Given the description of an element on the screen output the (x, y) to click on. 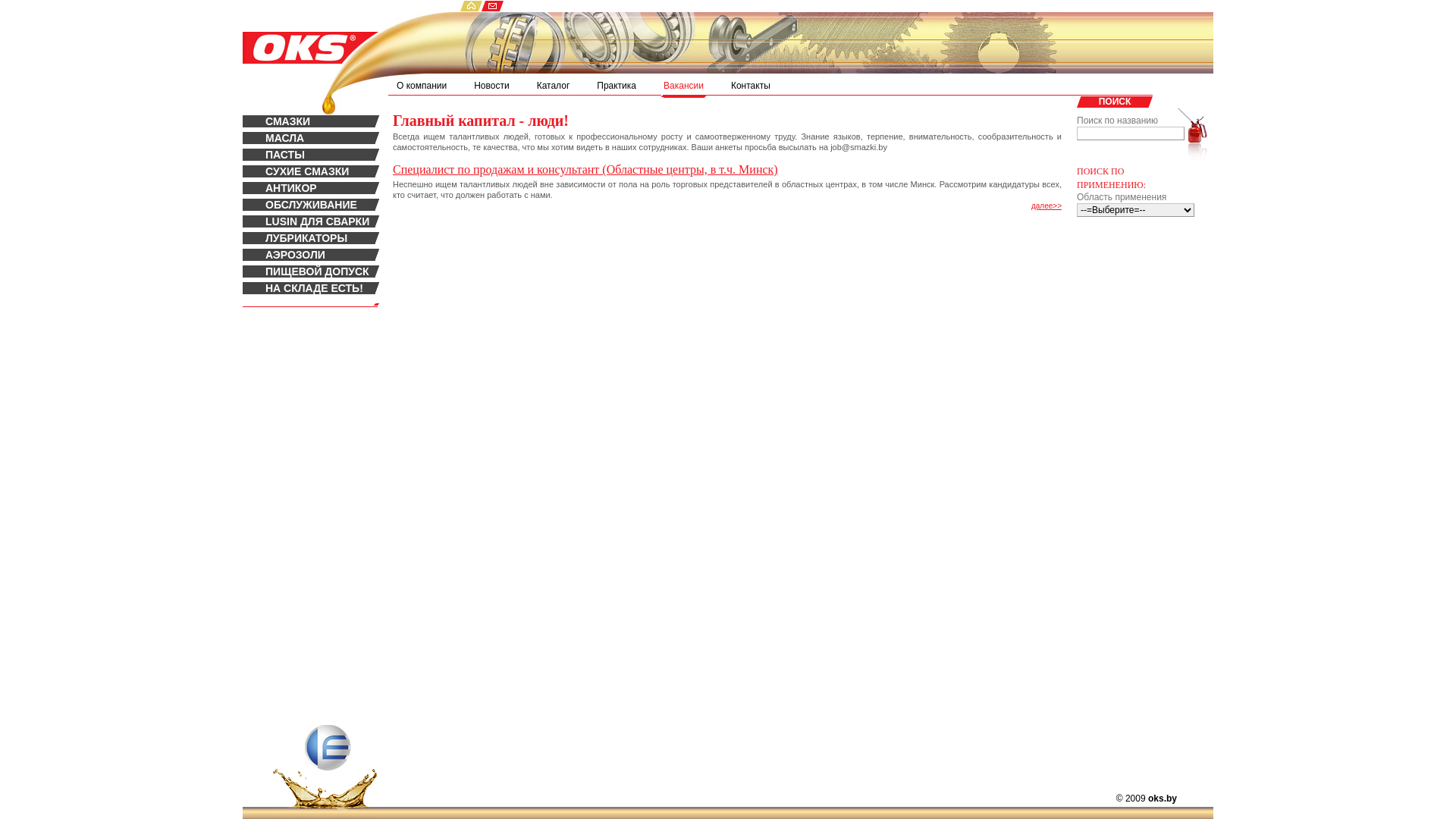
OKS Element type: text (310, 36)
email Element type: text (492, 6)
home Element type: text (469, 6)
